Given the description of an element on the screen output the (x, y) to click on. 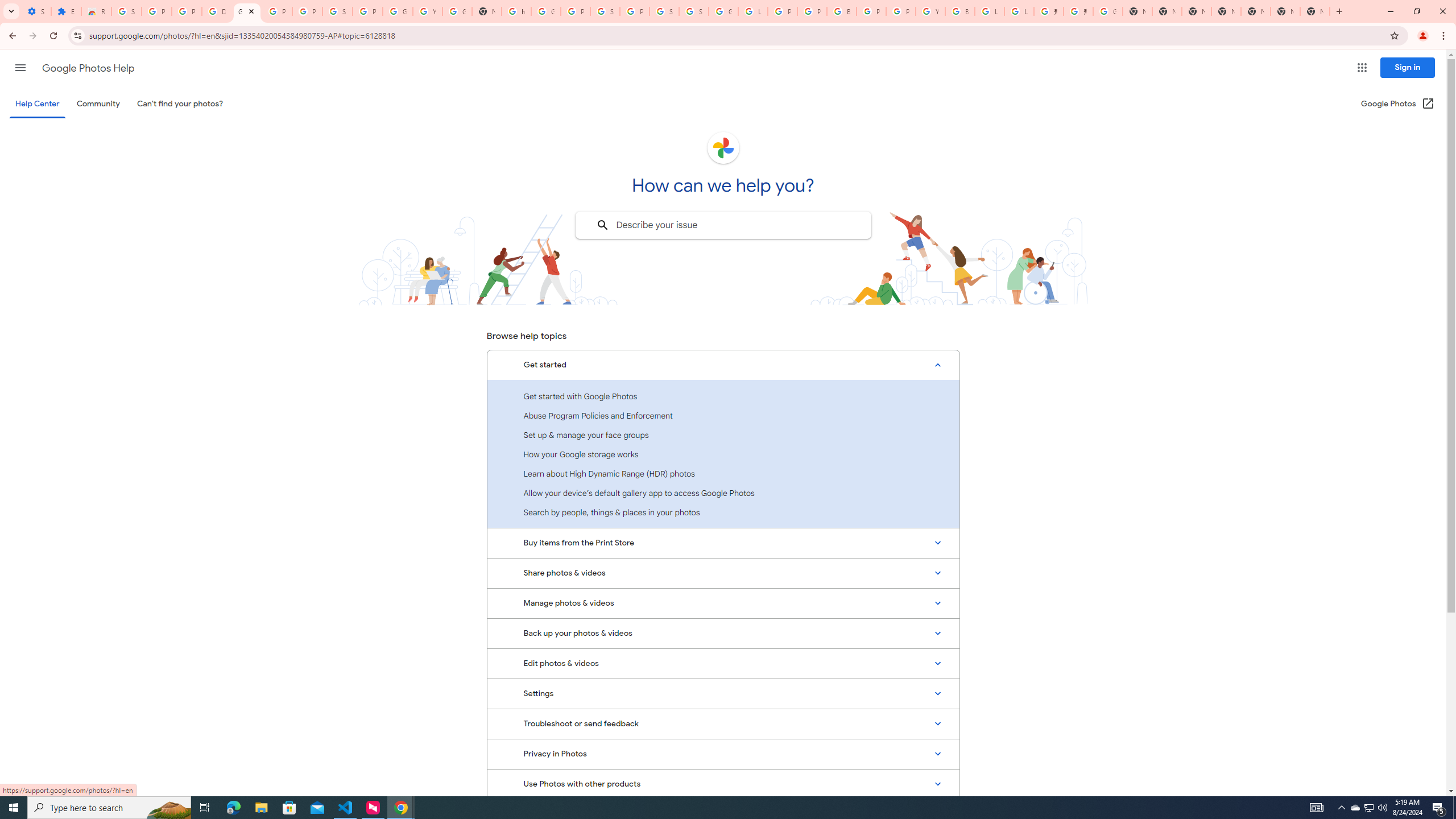
YouTube (930, 11)
Search by people, things & places in your photos (722, 512)
Google Photos Help (87, 68)
New Tab (1226, 11)
